Given the description of an element on the screen output the (x, y) to click on. 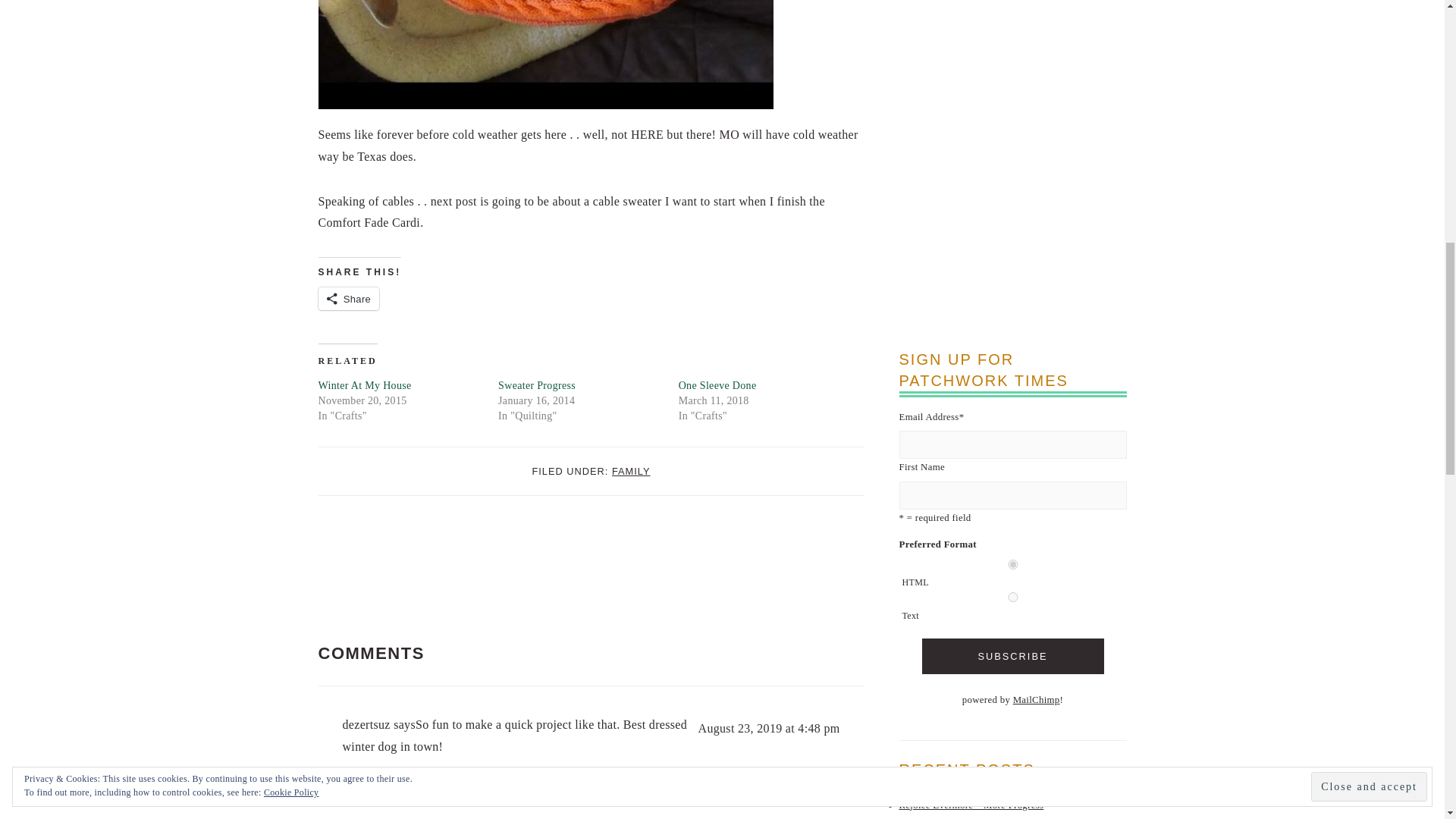
html (1012, 564)
MailChimp (1036, 699)
Chipotle Beef Soup (939, 818)
Winter At My House (365, 385)
Sweater Progress (536, 385)
August 23, 2019 at 4:48 pm (769, 727)
Subscribe (1012, 656)
Share (349, 298)
One Sleeve Done (717, 385)
Subscribe (1012, 656)
Winter At My House (365, 385)
FAMILY (630, 471)
Sweater Progress (536, 385)
One Sleeve Done (717, 385)
text (1012, 596)
